Given the description of an element on the screen output the (x, y) to click on. 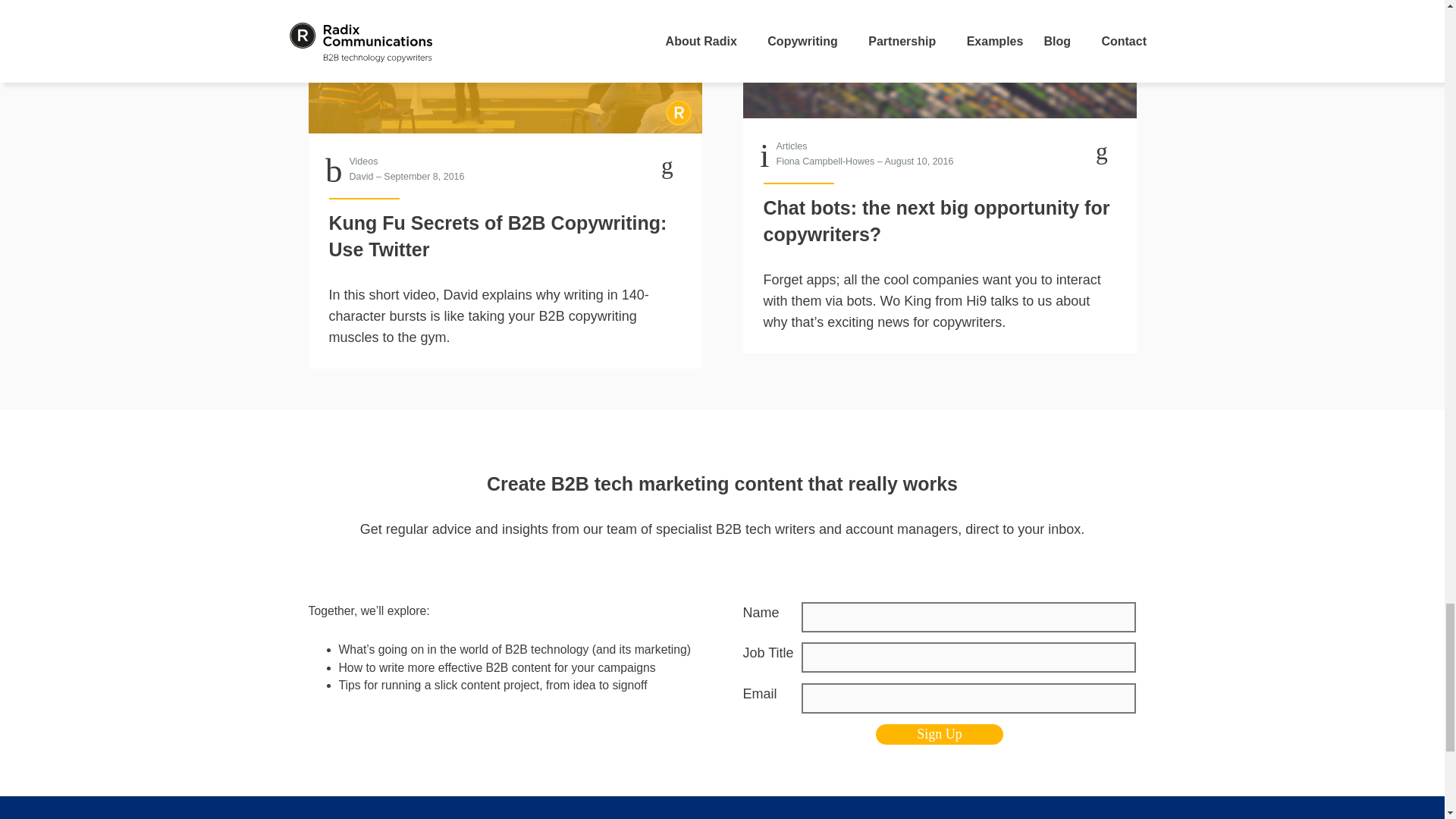
All  (363, 161)
Posts by Fiona Campbell-Howes (825, 161)
All  (792, 145)
Sign Up (939, 733)
Kung Fu Secrets of B2B Copywriting: Use Twitter (504, 66)
Posts by David (360, 176)
Chat bots: the next big opportunity for copywriters? (939, 58)
